Given the description of an element on the screen output the (x, y) to click on. 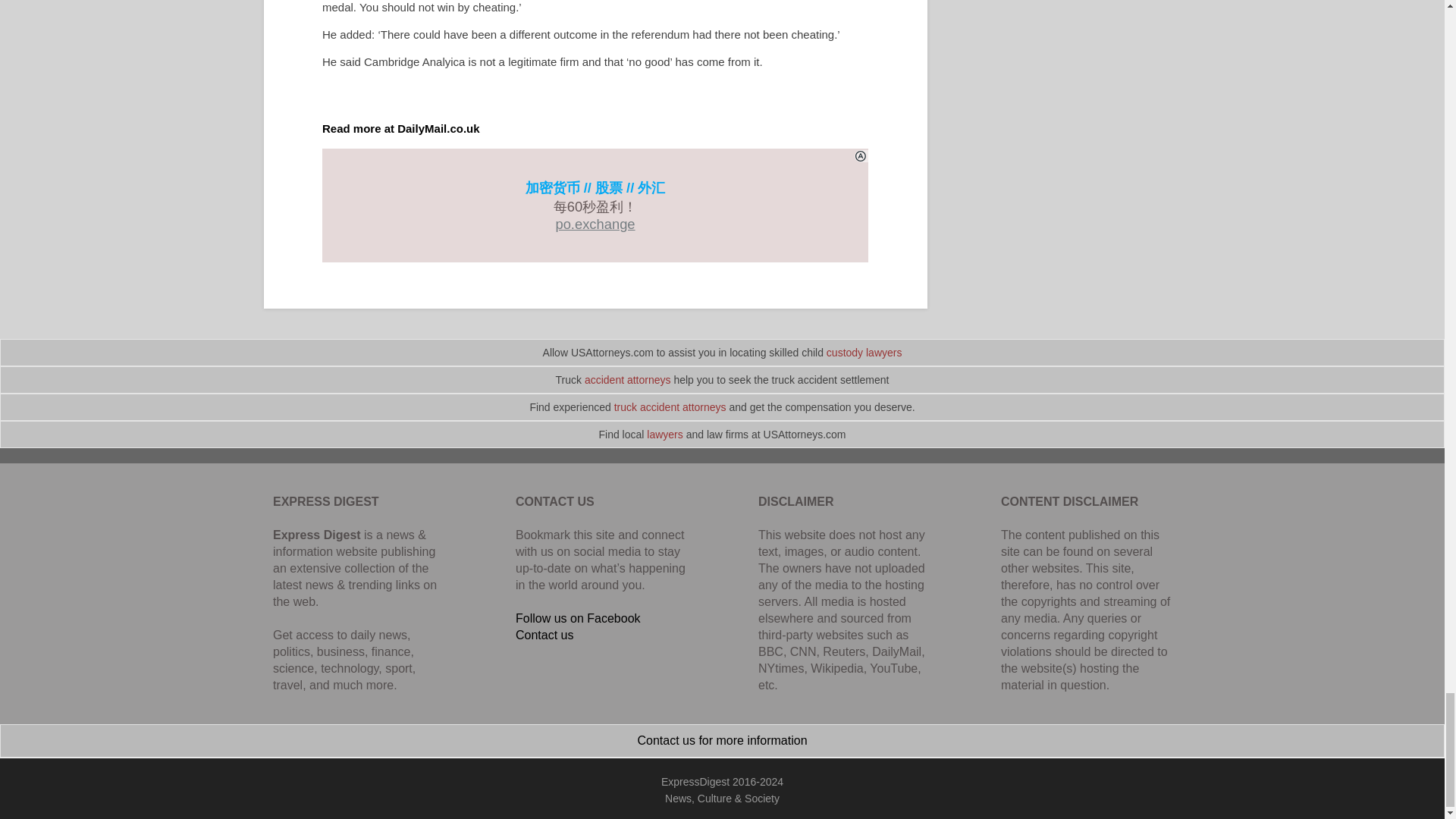
lawyers (664, 434)
accident attorneys (628, 379)
truck accident attorneys (670, 407)
custody lawyers (864, 352)
Read more at DailyMail.co.uk (400, 128)
